Given the description of an element on the screen output the (x, y) to click on. 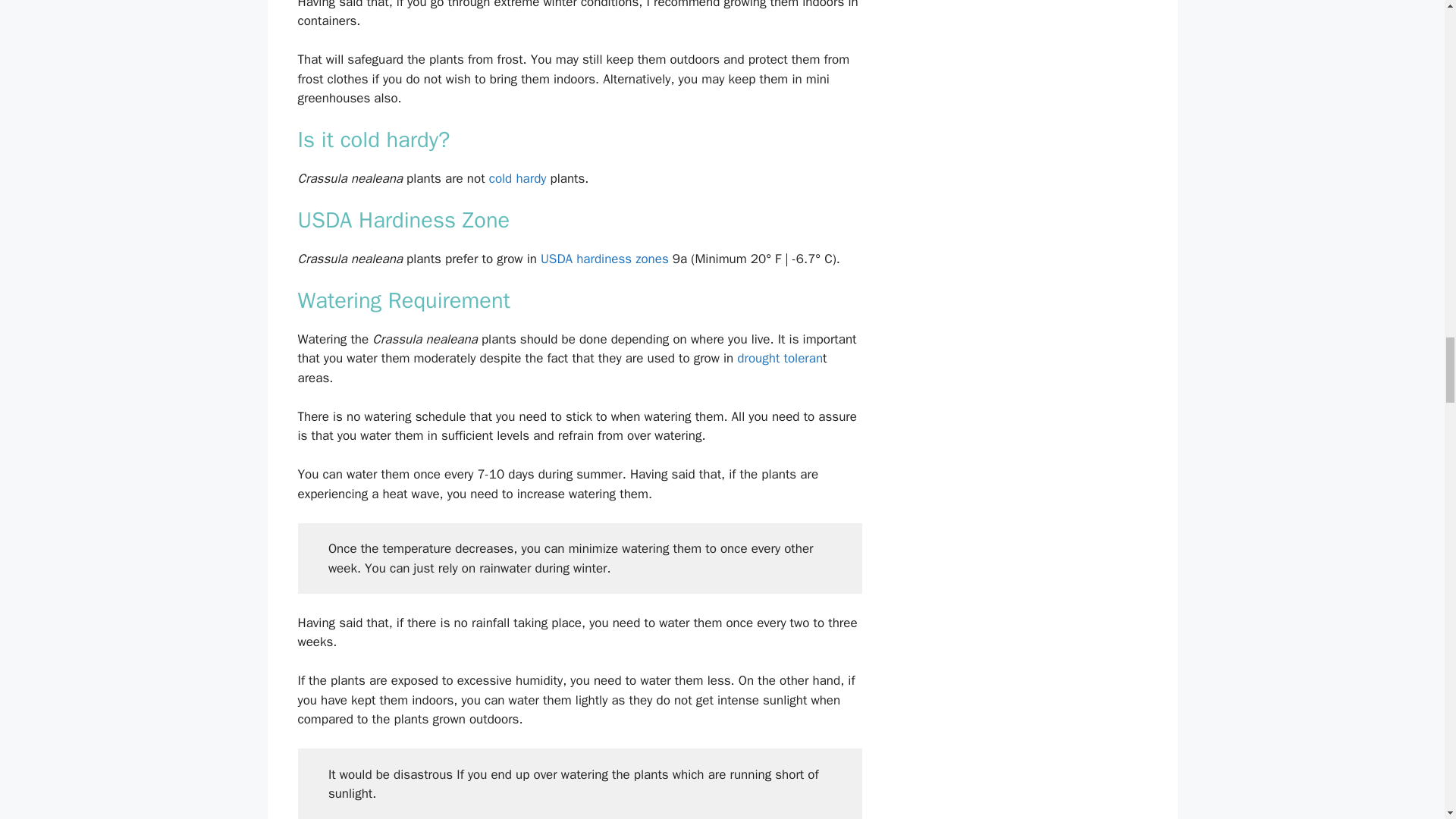
drought toleran (779, 358)
USDA hardiness zones (604, 258)
cold hardy (518, 178)
